Given the description of an element on the screen output the (x, y) to click on. 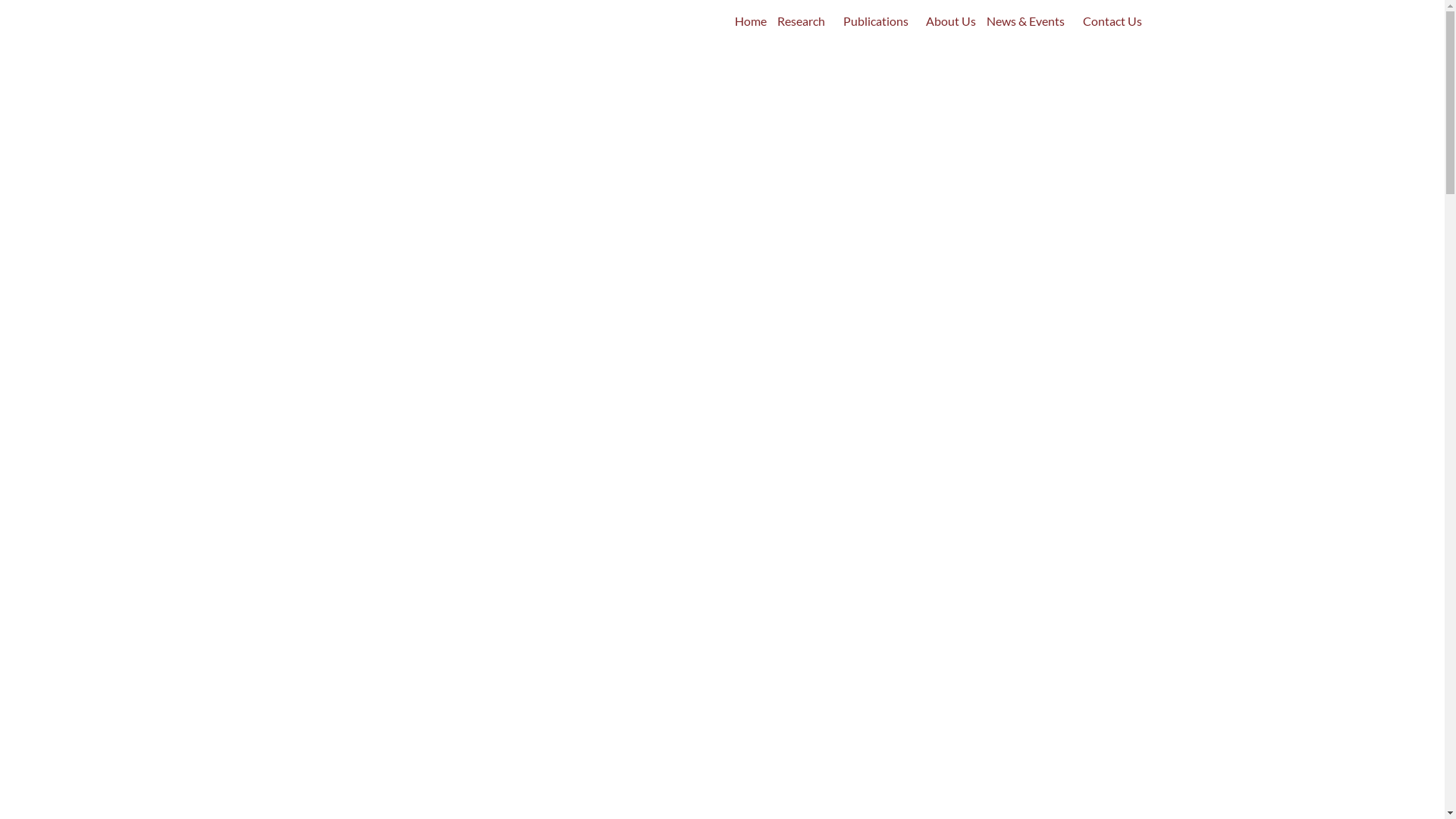
Publications Element type: text (879, 21)
Research Element type: text (804, 21)
Contact Us Element type: text (1112, 21)
About Us Element type: text (951, 21)
Home Element type: text (750, 21)
News & Events Element type: text (1029, 21)
